Given the description of an element on the screen output the (x, y) to click on. 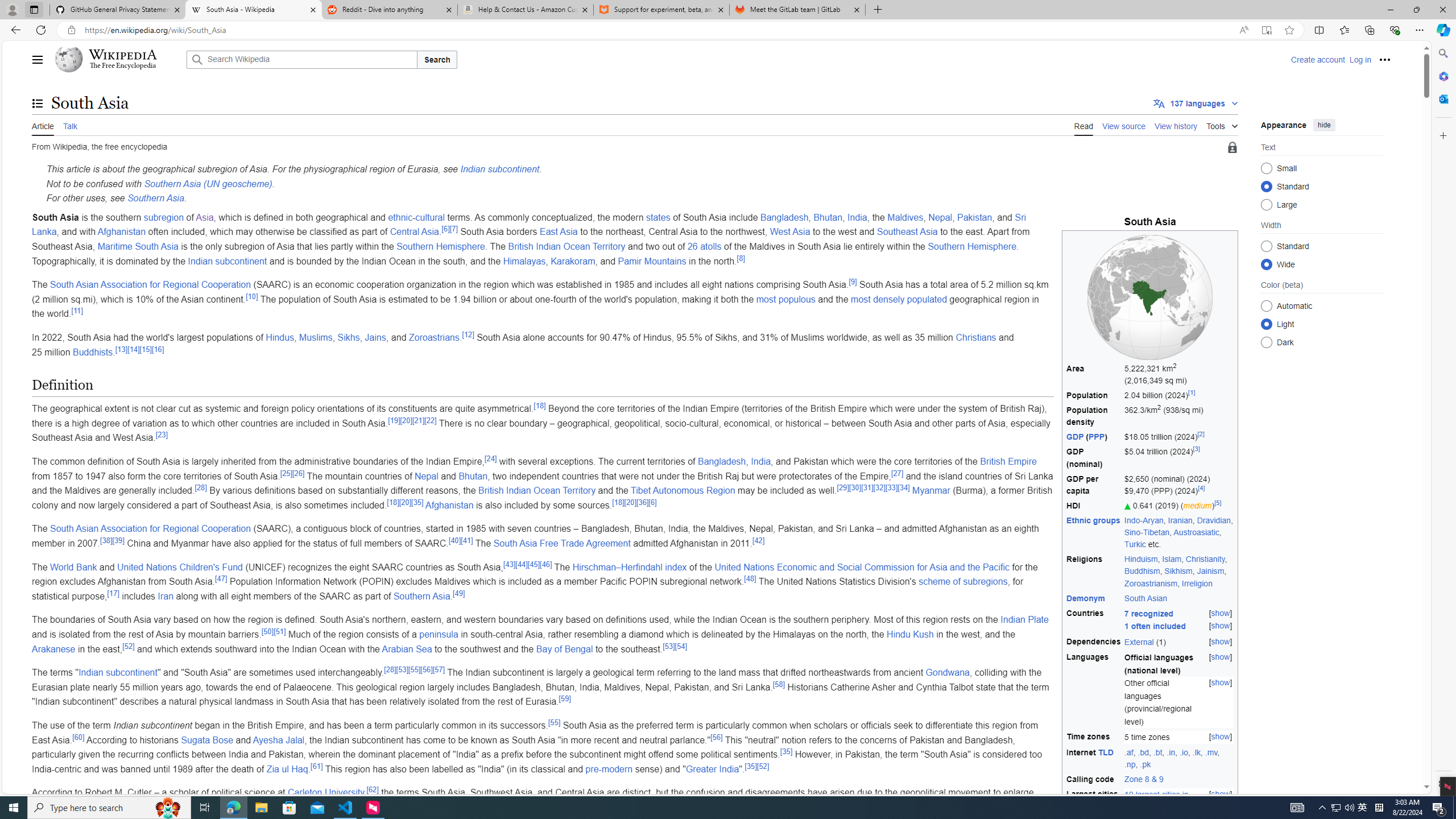
[8] (740, 257)
South Asian (1145, 597)
.in (1170, 751)
[32] (879, 487)
[20] (630, 501)
View history (1176, 124)
Large (1266, 204)
$2,650 (nominal) (2024) $9,470 (PPP) (2024)[4] (1179, 484)
.mv (1210, 751)
[show] 10 largest cities in South Asia (1179, 800)
[51] (279, 630)
Calling code (1093, 779)
[57] (438, 669)
